Given the description of an element on the screen output the (x, y) to click on. 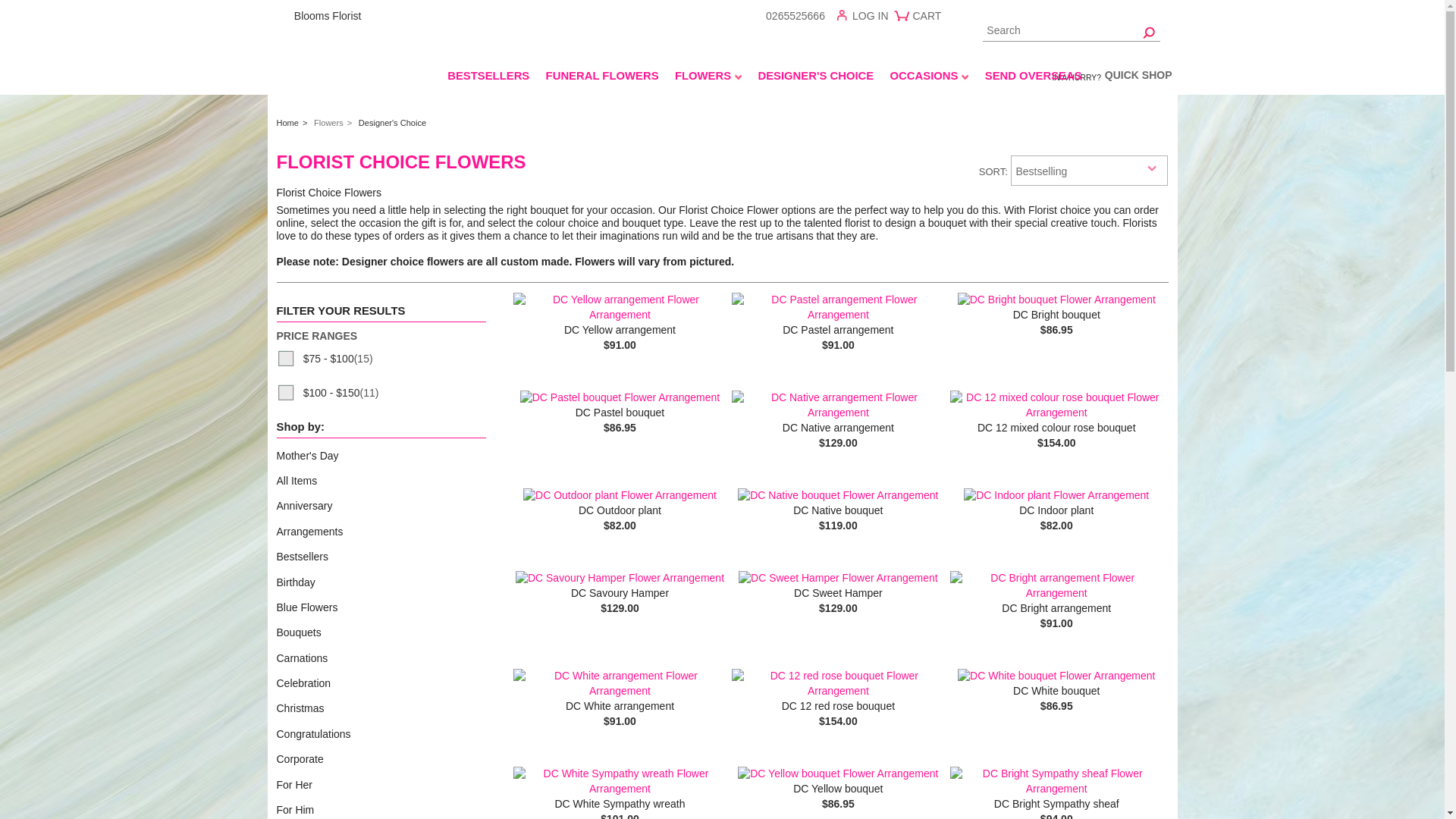
Go (1149, 32)
OCCASIONS (928, 78)
Search (1071, 31)
FUNERAL FLOWERS (601, 78)
Quick Shop (1138, 77)
FLOWERS (707, 78)
log In (866, 18)
CART (919, 21)
Sort By (1088, 170)
BESTSELLERS (488, 78)
Blooms Florist (363, 15)
LOG IN (866, 18)
DESIGNER'S CHOICE (815, 78)
0265525666 (795, 15)
